Given the description of an element on the screen output the (x, y) to click on. 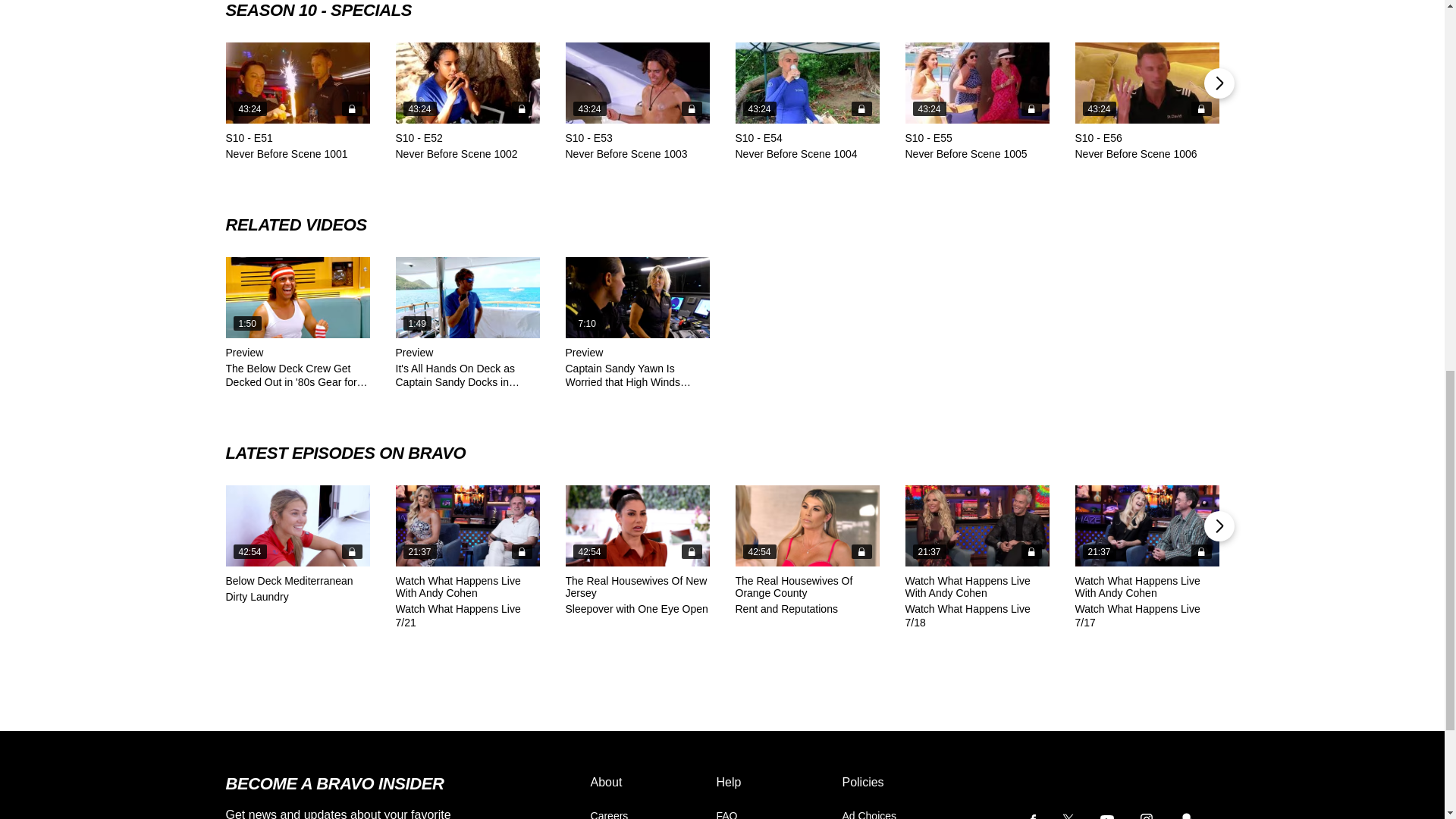
Sleepover with One Eye Open (638, 525)
Dirty Laundry (297, 525)
Rent and Reputations (807, 525)
